Given the description of an element on the screen output the (x, y) to click on. 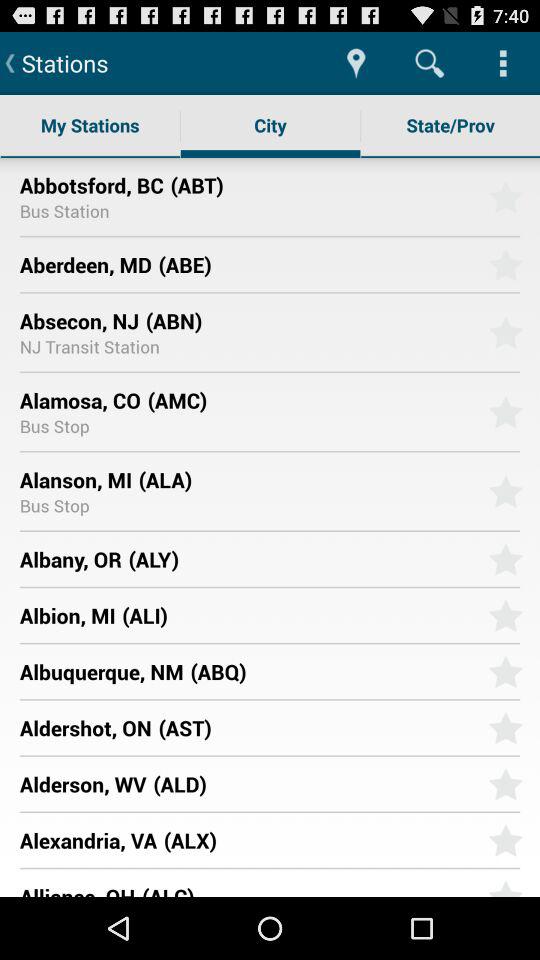
scroll until (abq) item (332, 671)
